Given the description of an element on the screen output the (x, y) to click on. 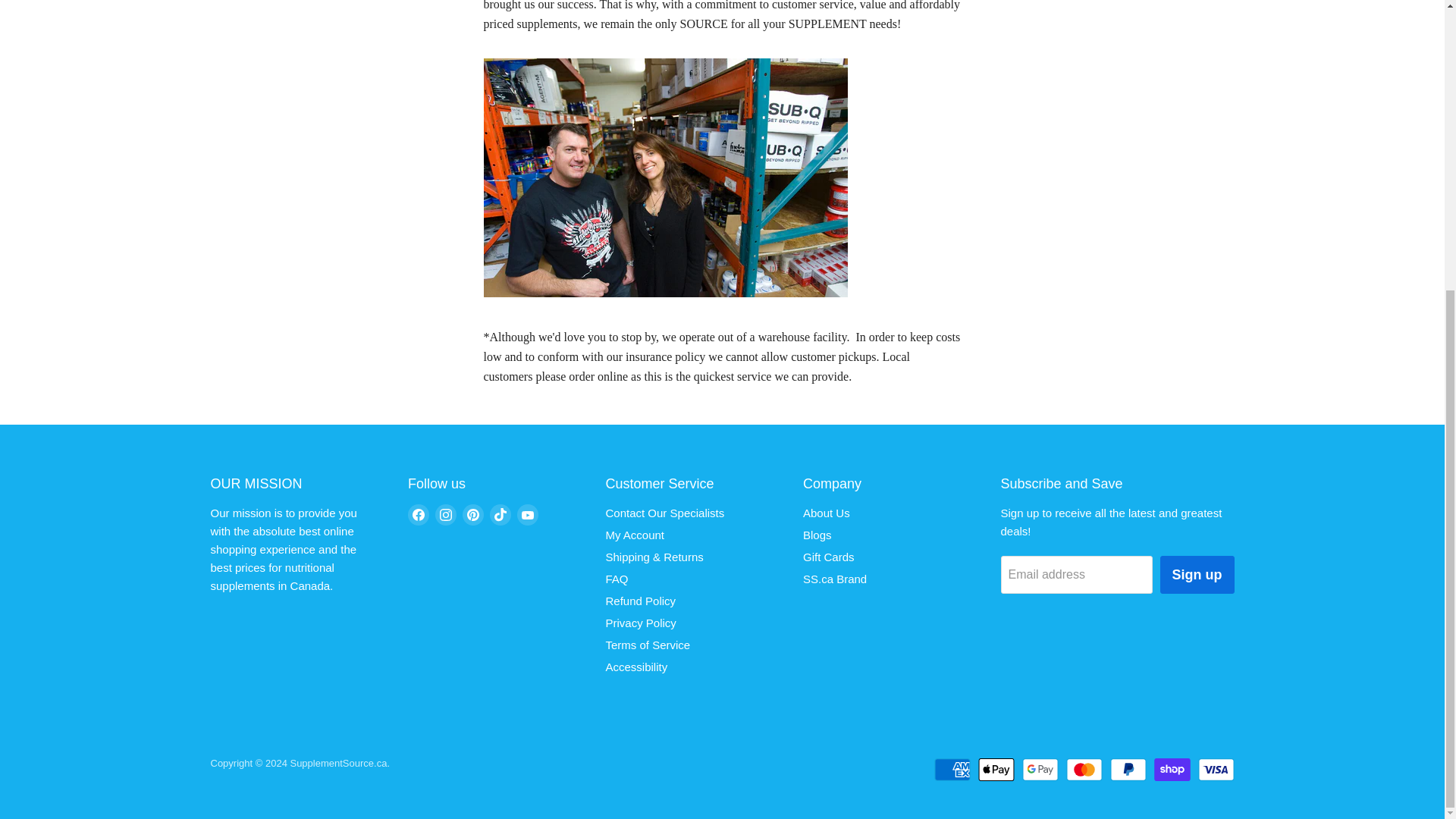
Apple Pay (996, 769)
Google Pay (1040, 769)
Instagram (446, 514)
Shop Pay (1172, 769)
PayPal (1128, 769)
Mastercard (1083, 769)
YouTube (527, 514)
Pinterest (473, 514)
Visa (1216, 769)
Facebook (418, 514)
